Given the description of an element on the screen output the (x, y) to click on. 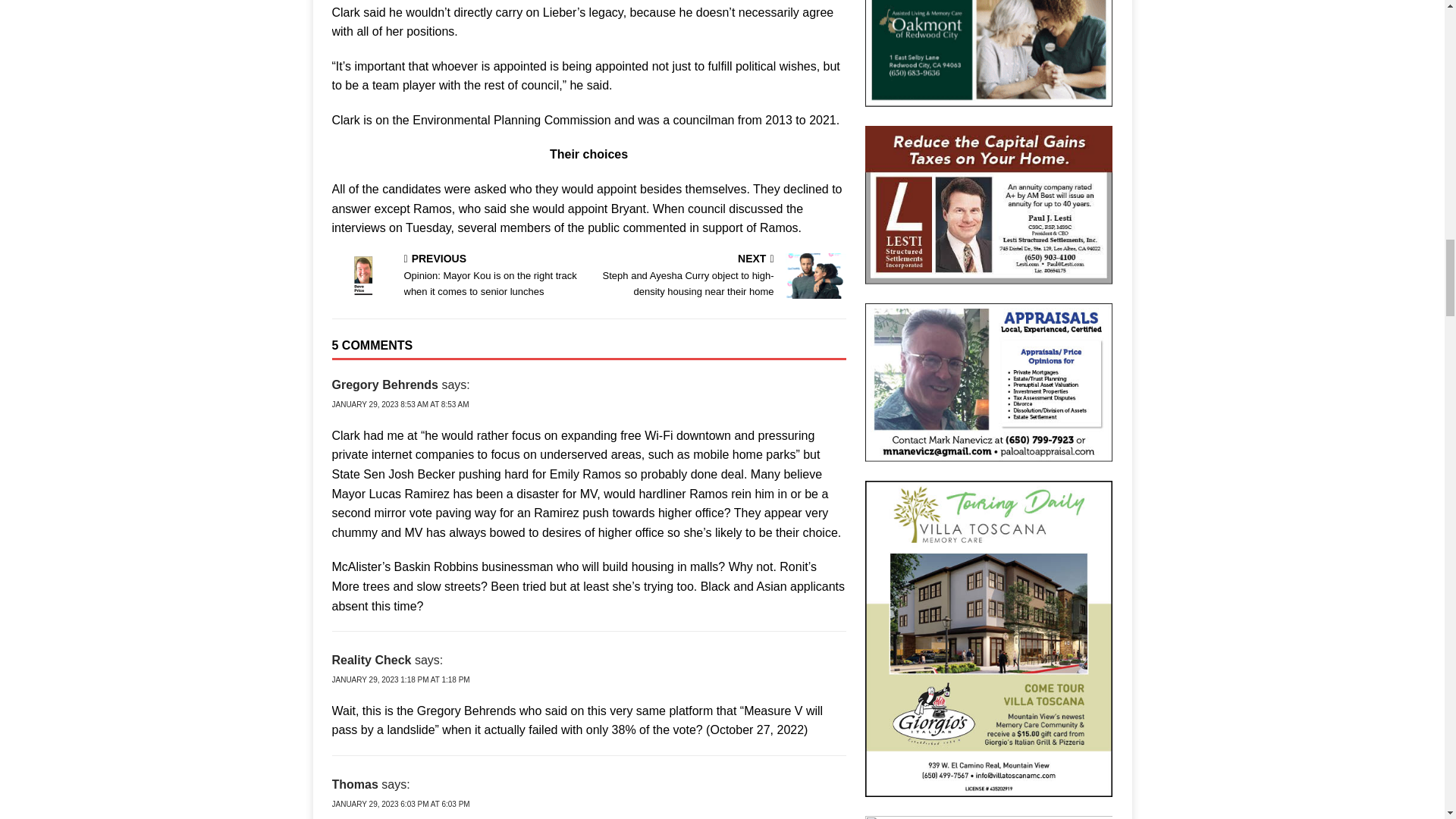
JANUARY 29, 2023 6:03 PM AT 6:03 PM (400, 804)
JANUARY 29, 2023 1:18 PM AT 1:18 PM (400, 679)
JANUARY 29, 2023 8:53 AM AT 8:53 AM (399, 404)
